Given the description of an element on the screen output the (x, y) to click on. 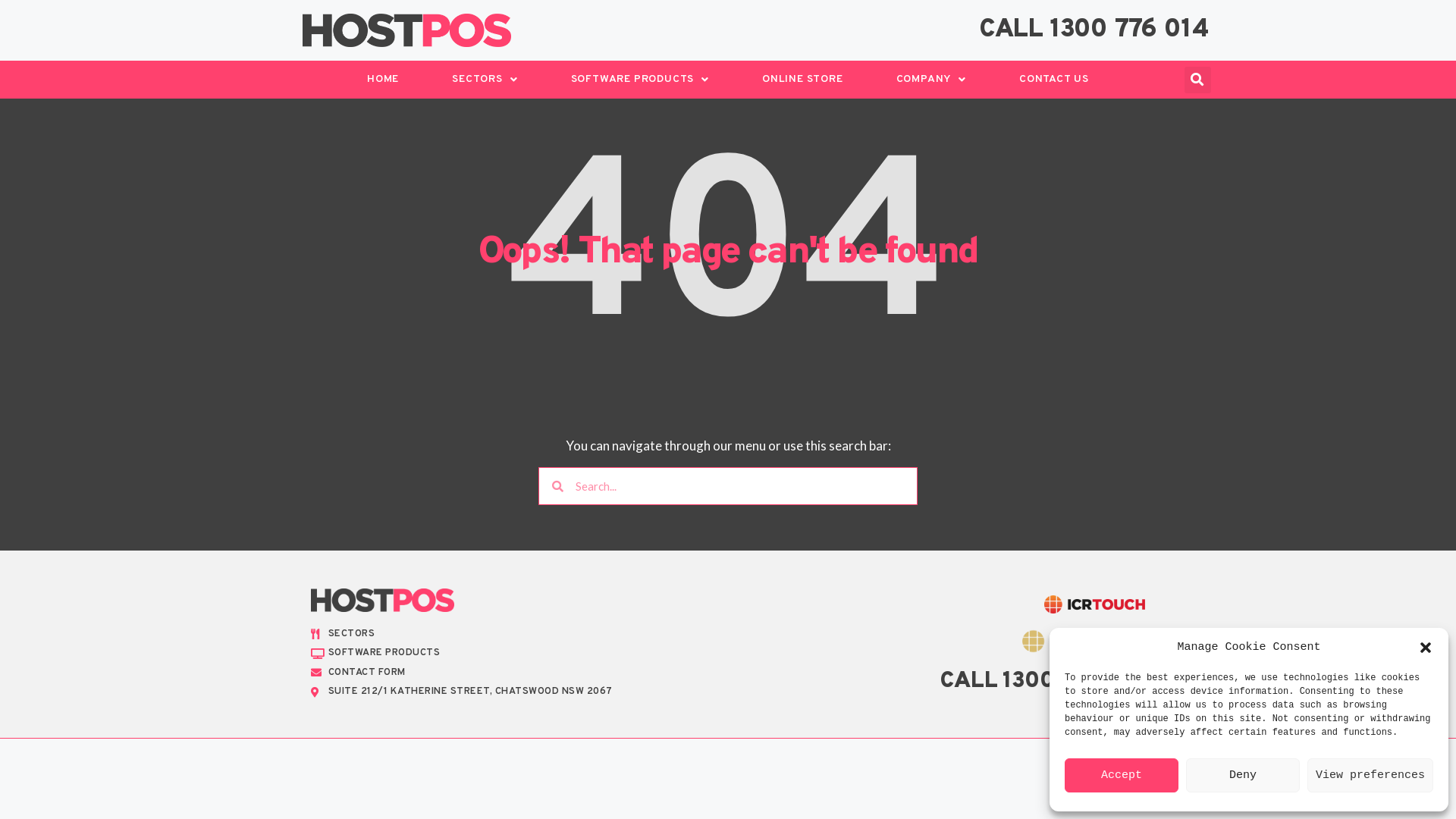
ONLINE STORE Element type: text (802, 79)
CALL 1300 776 014 Element type: text (1094, 30)
COMPANY Element type: text (930, 79)
SECTORS Element type: text (484, 79)
Deny Element type: text (1242, 775)
CALL 1300 776 014 Element type: text (1042, 681)
HOME Element type: text (382, 79)
Accept Element type: text (1121, 775)
SOFTWARE PRODUCTS Element type: text (639, 79)
CONTACT FORM Element type: text (515, 672)
View preferences Element type: text (1370, 775)
SECTORS Element type: text (515, 634)
SOFTWARE PRODUCTS Element type: text (515, 653)
CONTACT US Element type: text (1053, 79)
